Given the description of an element on the screen output the (x, y) to click on. 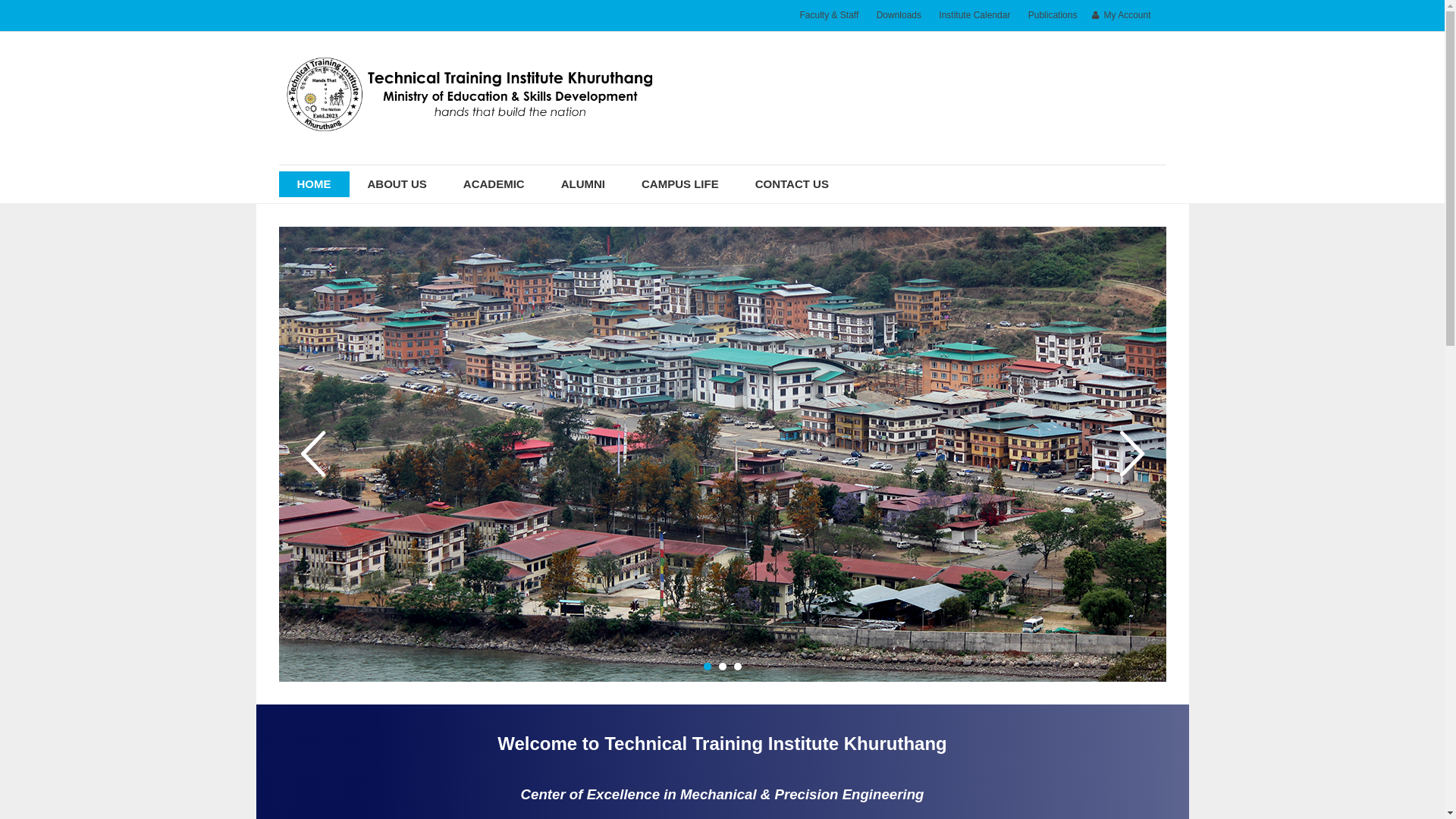
Faculty & Staff Element type: text (828, 15)
ALUMNI Element type: text (582, 183)
ACADEMIC Element type: text (493, 183)
Institute Calendar Element type: text (974, 15)
Publications Element type: text (1052, 15)
Downloads Element type: text (898, 15)
CONTACT US Element type: text (792, 183)
CAMPUS LIFE Element type: text (680, 183)
HOME Element type: text (314, 183)
ABOUT US Element type: text (396, 183)
